Given the description of an element on the screen output the (x, y) to click on. 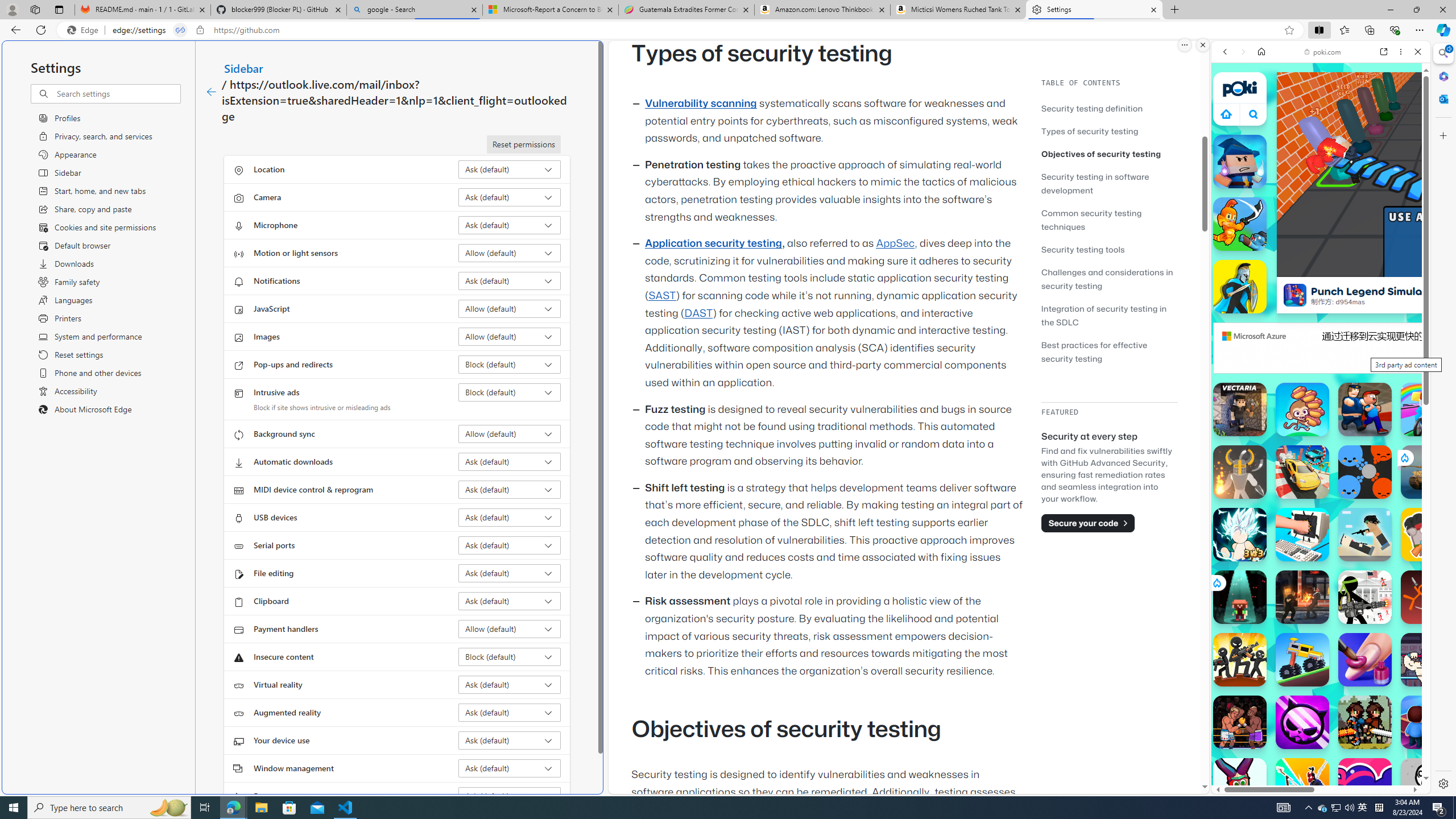
Best practices for effective security testing (1094, 351)
Rainbow Obby Rainbow Obby (1427, 409)
Drive Mad Drive Mad (1302, 659)
Payment handlers Allow (default) (509, 628)
Apple Knight: Fight (1364, 722)
Images Allow (default) (509, 336)
Tiger Tank Tiger Tank (1427, 471)
Location Ask (default) (509, 169)
Tiger Tank (1427, 471)
Close split screen. (1202, 45)
Security testing tools (1109, 249)
More options. (1183, 45)
